Given the description of an element on the screen output the (x, y) to click on. 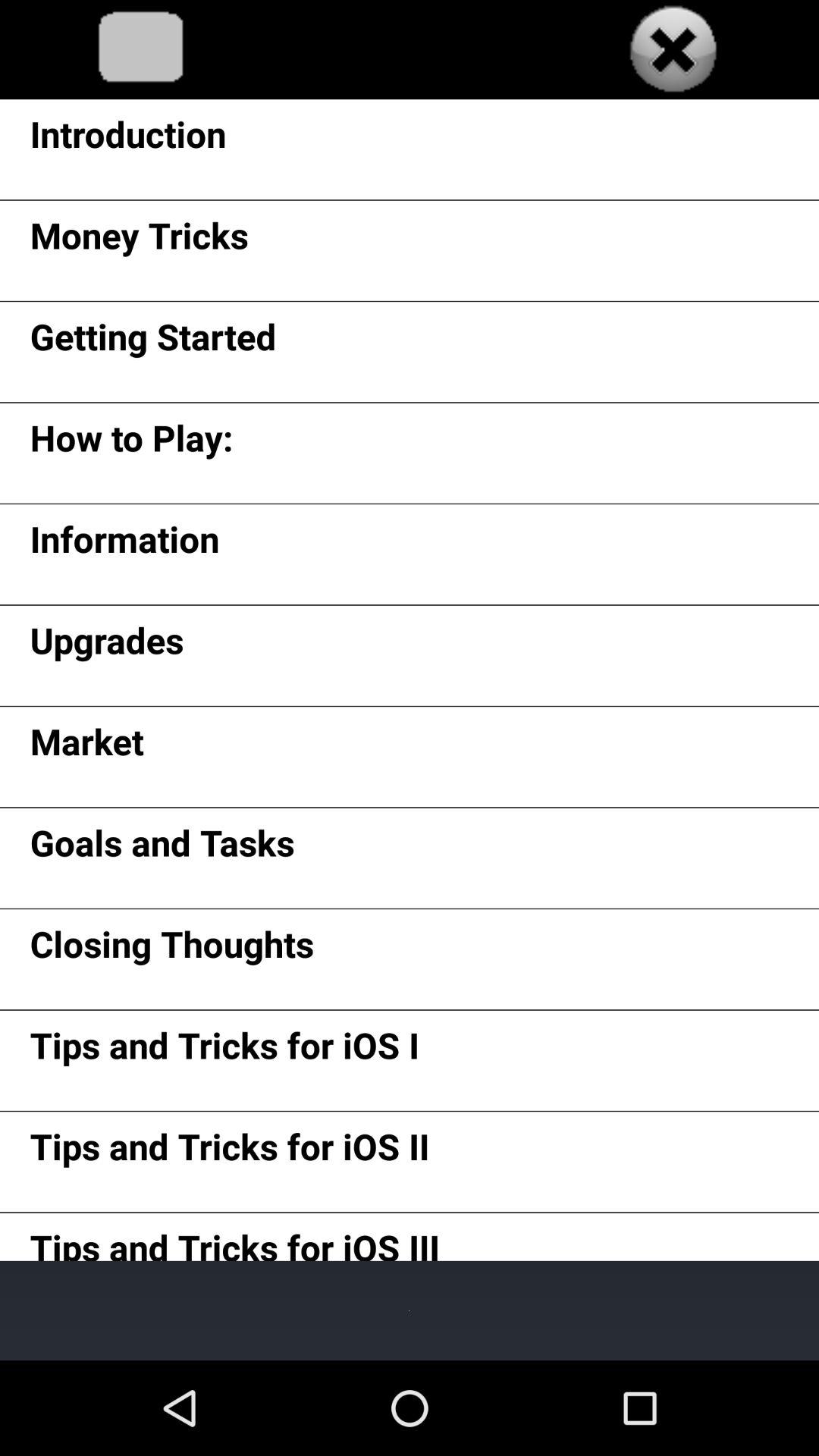
choose the icon below how to play: item (124, 544)
